Given the description of an element on the screen output the (x, y) to click on. 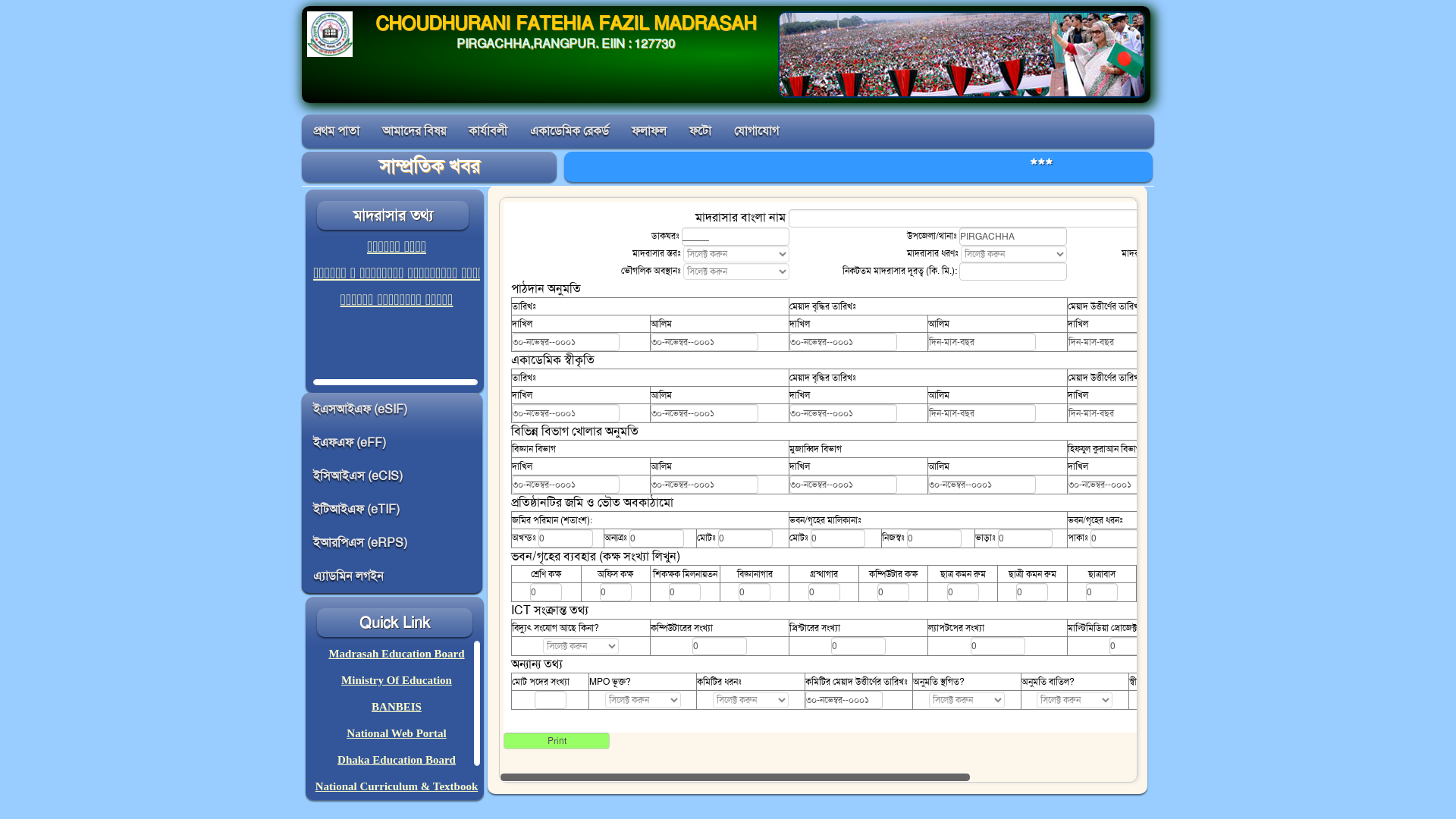
National Curriculum & Textbook Element type: text (396, 786)
Madrasah Education Board Element type: text (396, 653)
Ministry Of Education Element type: text (396, 680)
National Web Portal Element type: text (395, 733)
Dhaka Education Board Element type: text (396, 759)
BANBEIS Element type: text (396, 706)
Print Element type: text (556, 740)
